Given the description of an element on the screen output the (x, y) to click on. 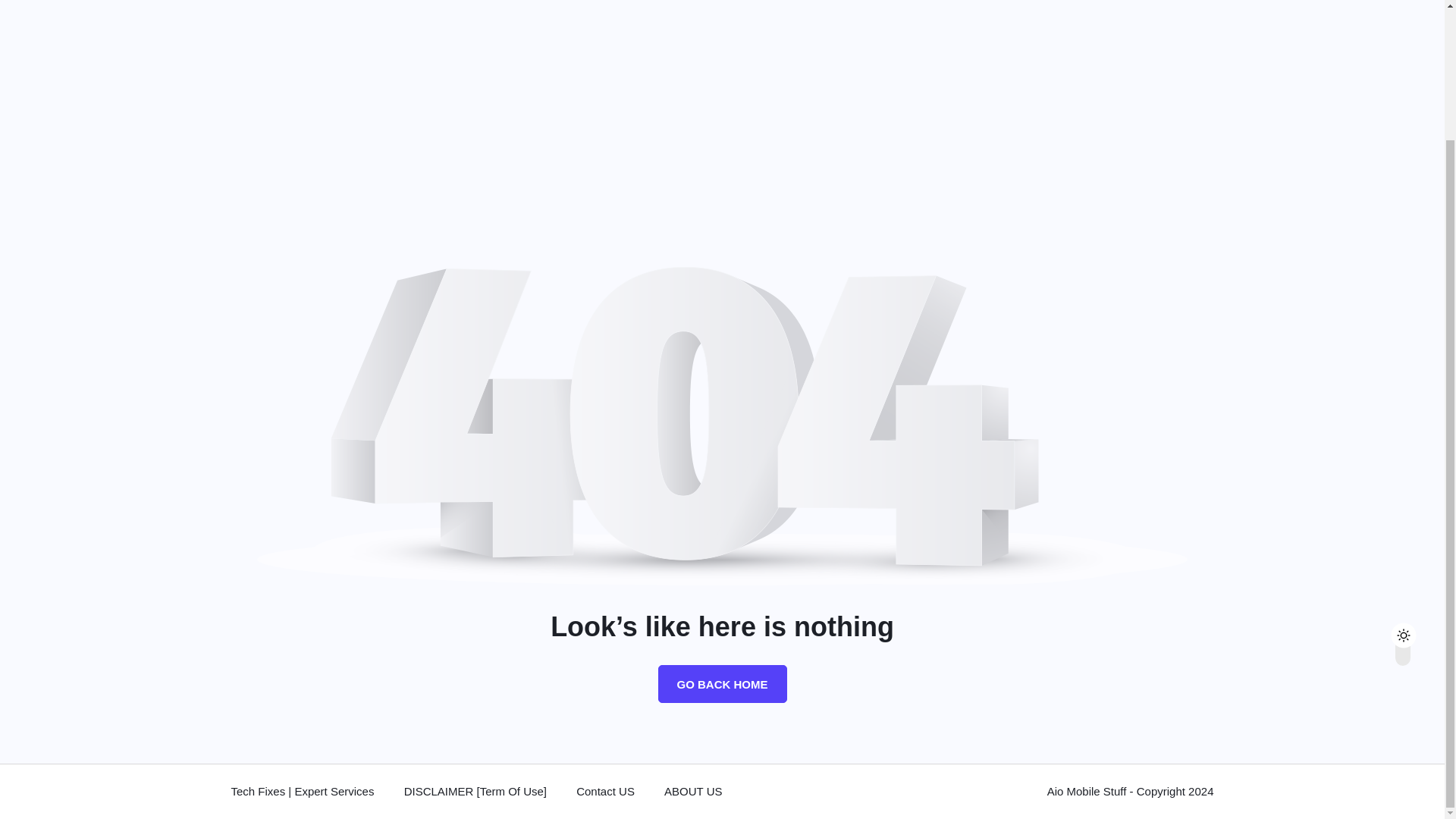
GO BACK HOME (722, 683)
ABOUT US (692, 791)
Android (325, 11)
Wallpapers (494, 11)
on (1415, 473)
Contact US (605, 791)
